Given the description of an element on the screen output the (x, y) to click on. 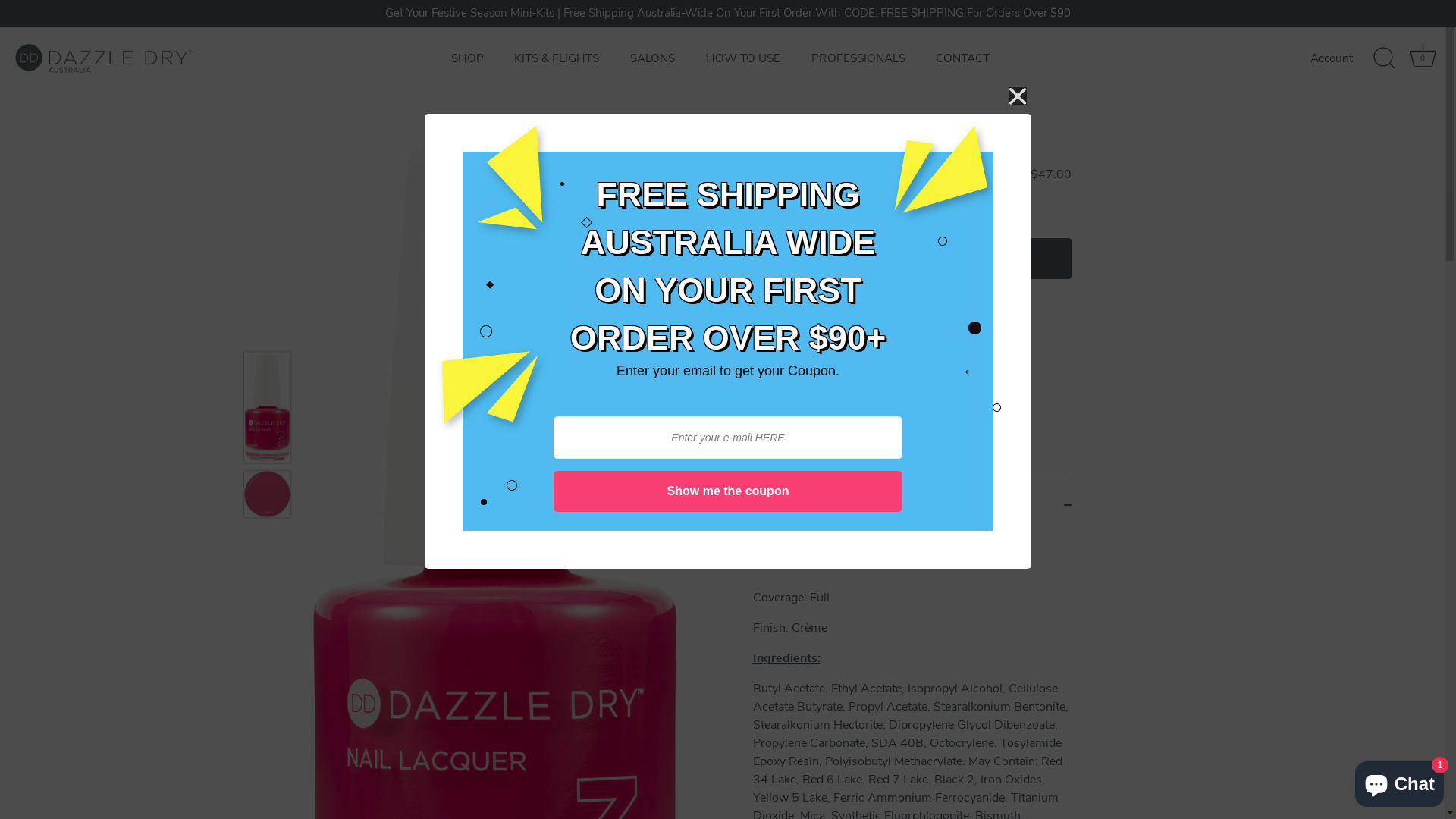
Cart
0 Element type: text (1422, 58)
Nail Polishes Element type: text (909, 174)
Description Element type: text (911, 504)
Dazzle Dry Australia Element type: text (807, 174)
Show me the coupon Element type: text (727, 490)
+ Element type: text (833, 257)
Close Element type: hover (1018, 96)
KITS & FLIGHTS Element type: text (556, 57)
Shopify online store chat Element type: hover (1399, 780)
HOW TO USE Element type: text (742, 57)
Account Element type: text (1344, 58)
SHOP Element type: text (466, 57)
ADD TO CART Element type: text (964, 258)
View store information Element type: text (824, 343)
SALONS Element type: text (652, 57)
PROFESSIONALS Element type: text (858, 57)
CONTACT Element type: text (963, 57)
